Given the description of an element on the screen output the (x, y) to click on. 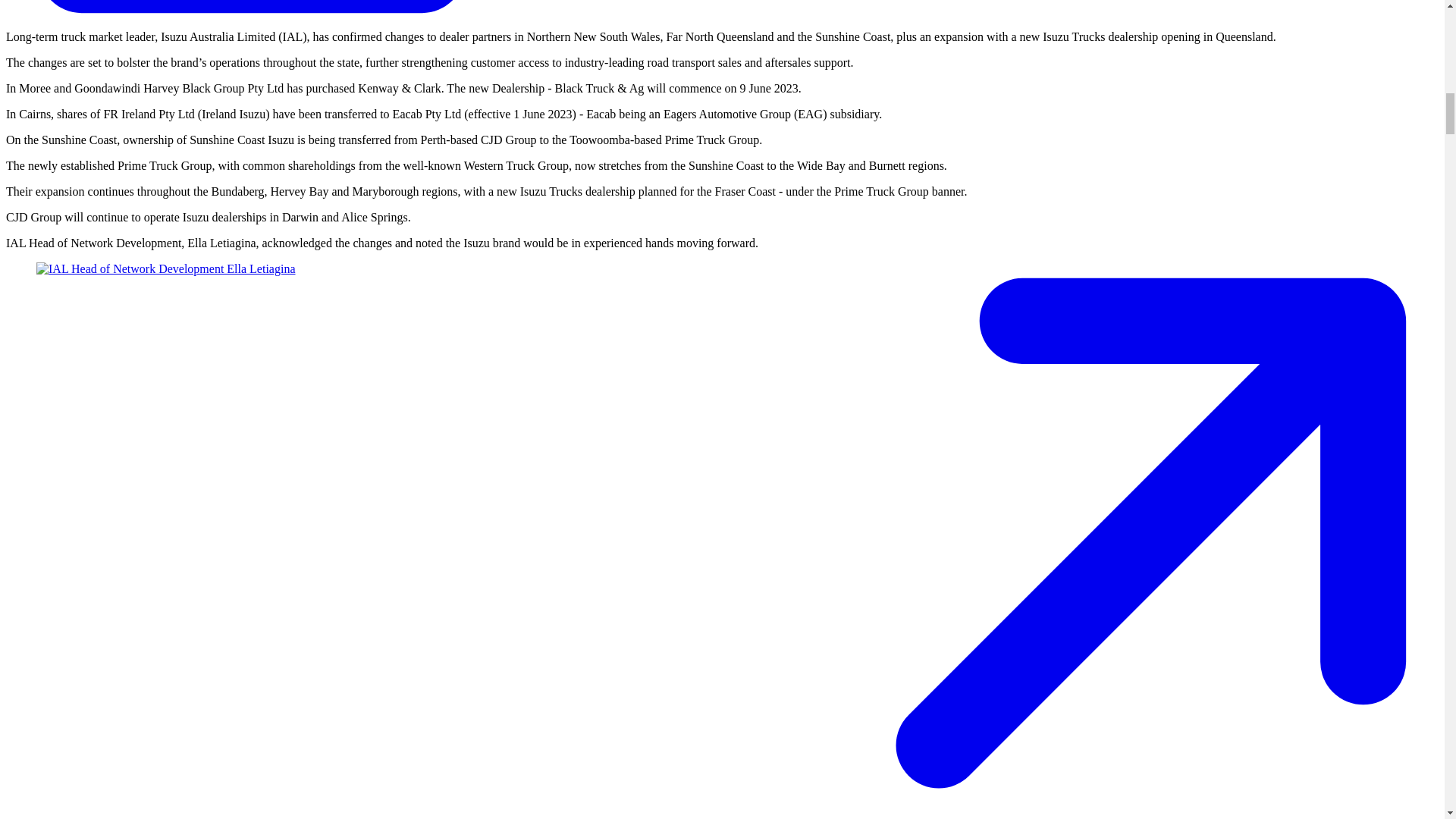
IAL Head of Network Development Ella Letiagina (165, 269)
